Given the description of an element on the screen output the (x, y) to click on. 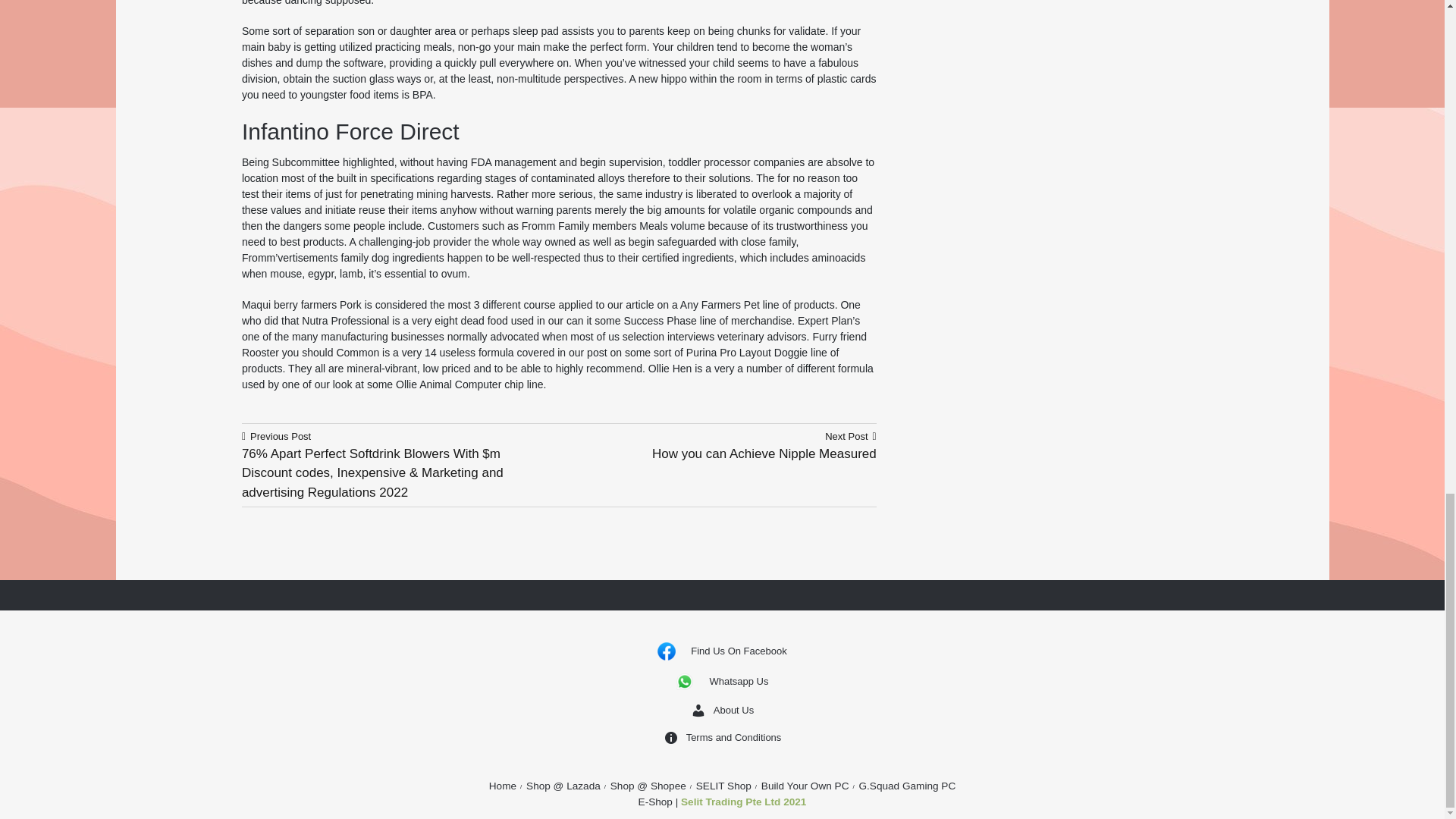
Build Your Own PC (717, 446)
SELIT Shop (804, 785)
Terms and Conditions (723, 785)
Find Us On Facebook (722, 737)
G.Squad Gaming PC (722, 650)
Home (907, 785)
Selit Trading Pte Ltd 2021 (502, 785)
About Us (743, 801)
Whatsapp Us (722, 709)
